Given the description of an element on the screen output the (x, y) to click on. 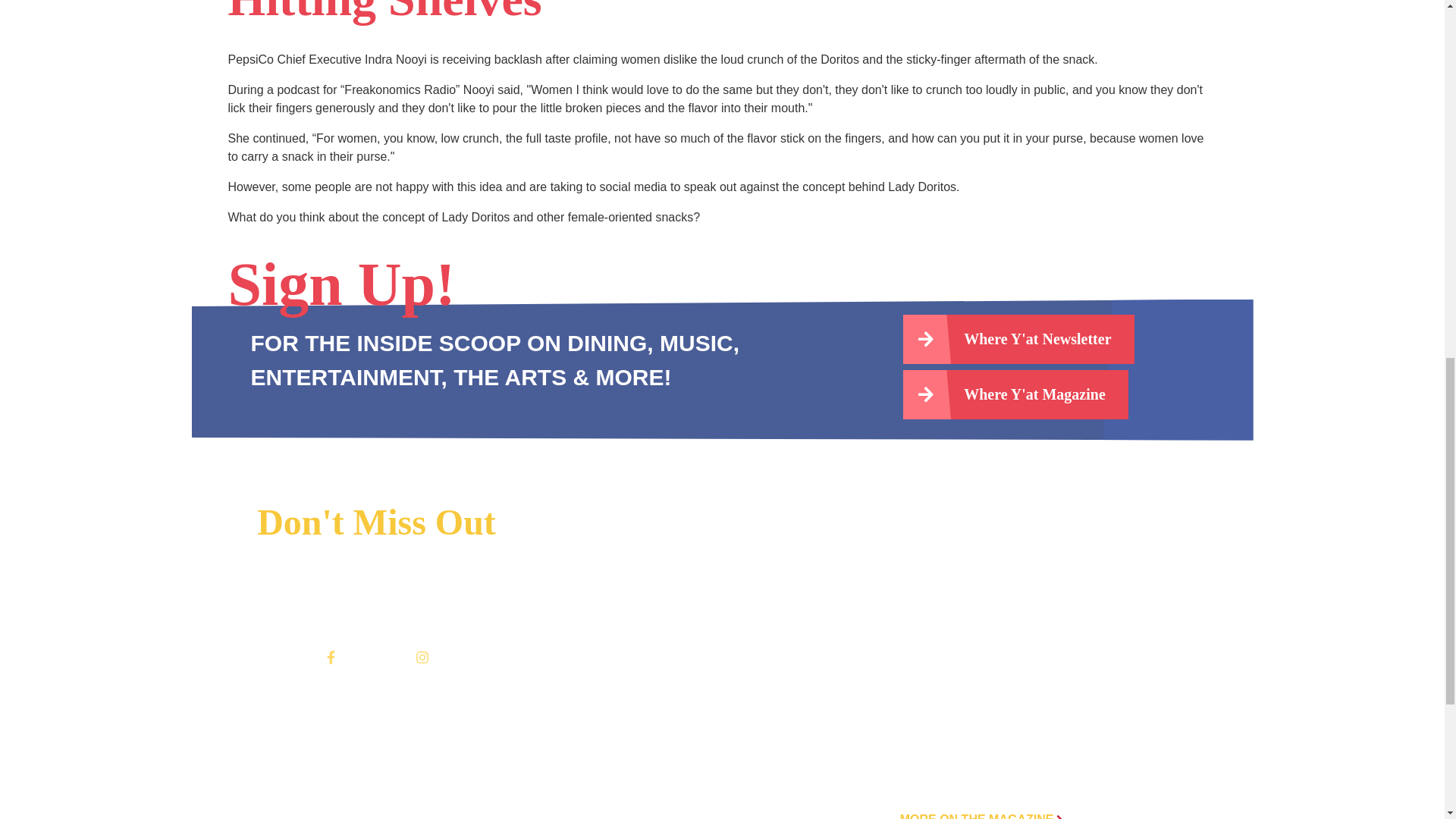
Facebook (330, 657)
Instagram (421, 657)
YouTube (390, 657)
